Given the description of an element on the screen output the (x, y) to click on. 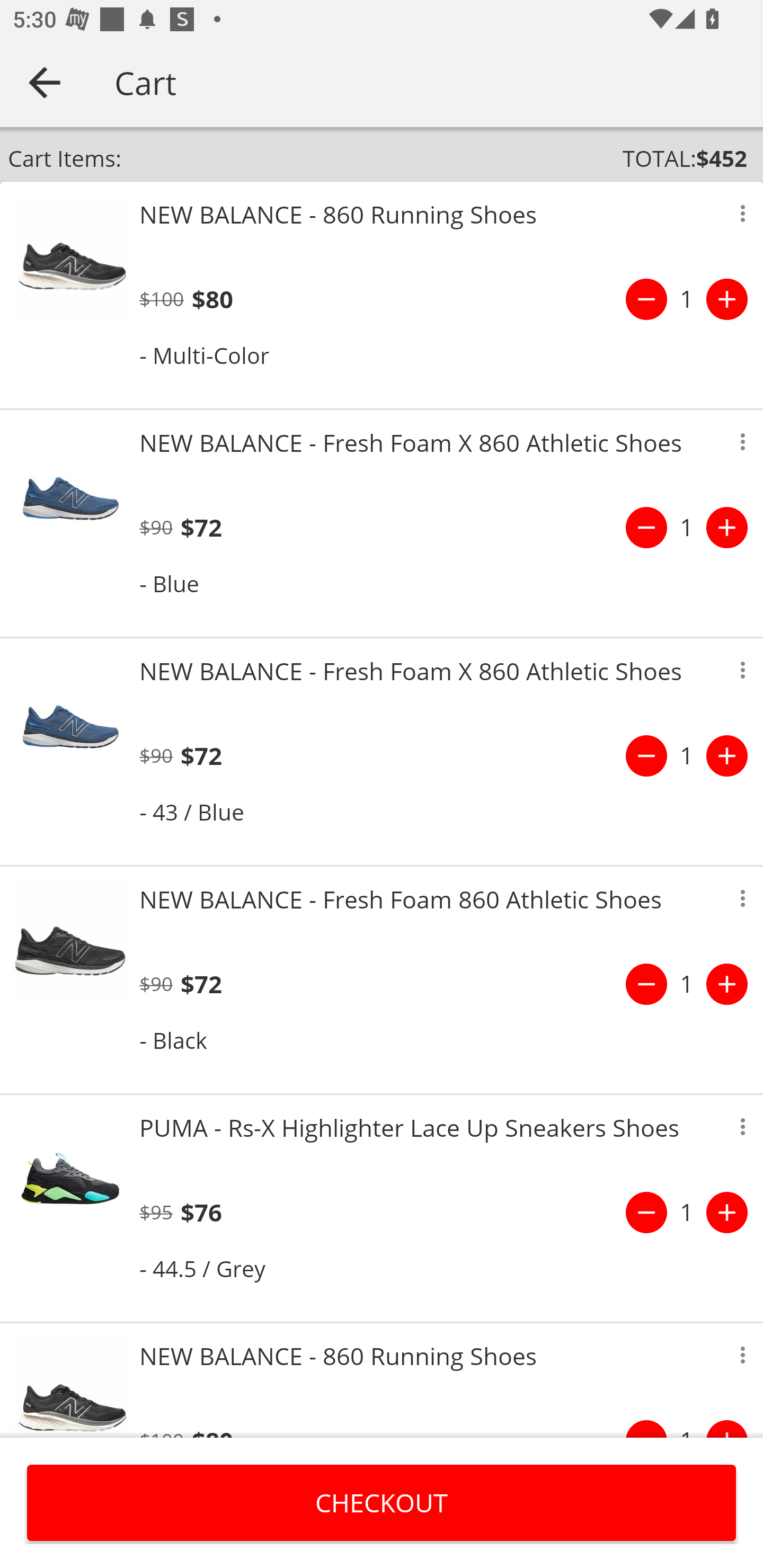
Navigate up (44, 82)
1 (686, 299)
1 (686, 527)
1 (686, 755)
1 (686, 984)
1 (686, 1211)
NEW BALANCE - 860 Running Shoes $100 $80 1 (381, 1380)
CHECKOUT (381, 1502)
